Given the description of an element on the screen output the (x, y) to click on. 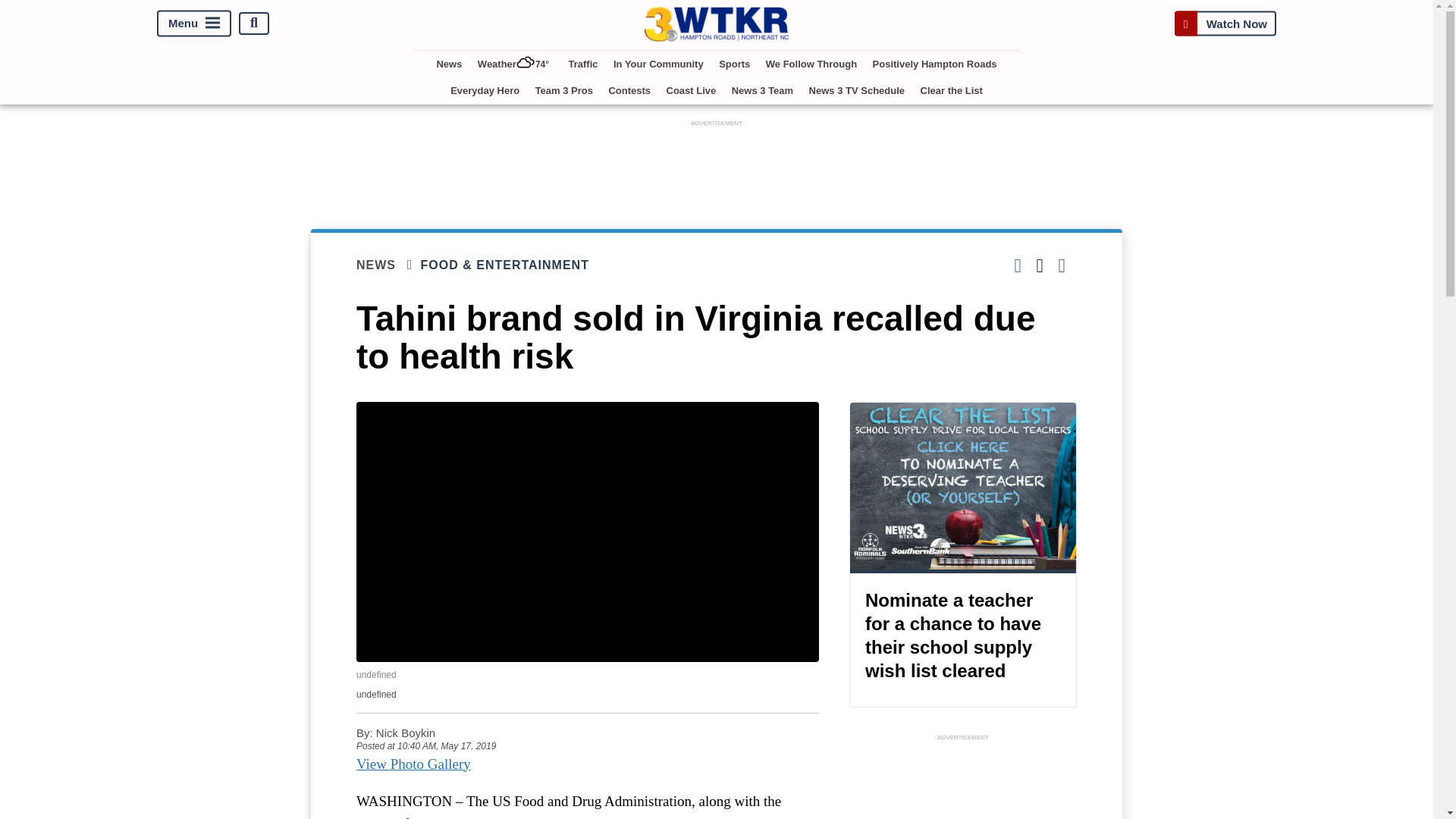
Watch Now (1224, 22)
Menu (194, 22)
3rd party ad content (962, 781)
3rd party ad content (716, 164)
